Given the description of an element on the screen output the (x, y) to click on. 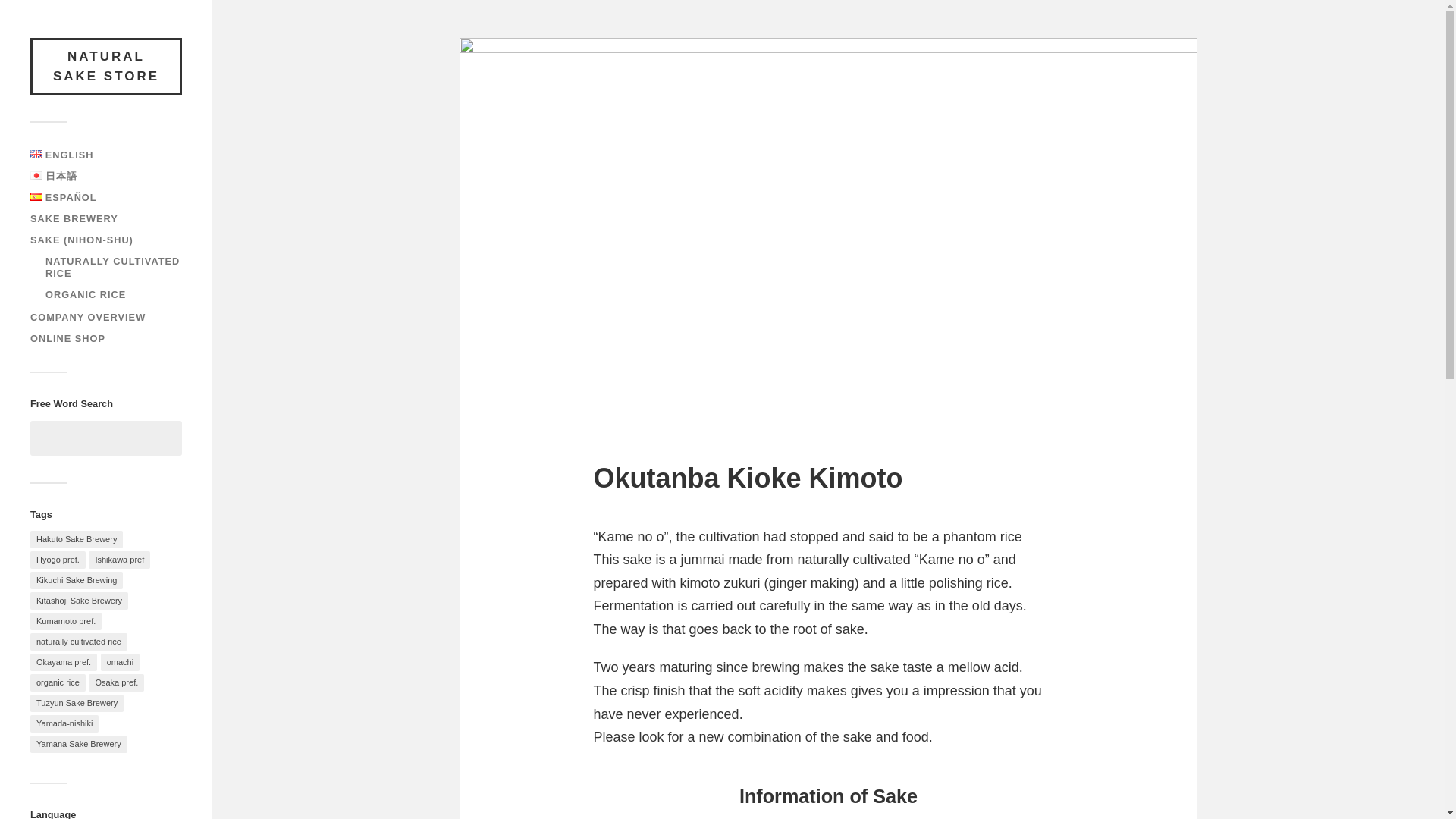
organic rice (57, 682)
ONLINE SHOP (67, 337)
COMPANY OVERVIEW (87, 317)
Yamana Sake Brewery (79, 743)
Hyogo pref. (57, 559)
omachi (119, 661)
Osaka pref. (116, 682)
NATURAL SAKE STORE (106, 66)
Kikuchi Sake Brewing (76, 579)
SAKE BREWERY (73, 218)
Search (163, 437)
Yamada-nishiki (64, 723)
Kitashoji Sake Brewery (79, 600)
Okayama pref. (63, 661)
naturally cultivated rice (79, 641)
